Given the description of an element on the screen output the (x, y) to click on. 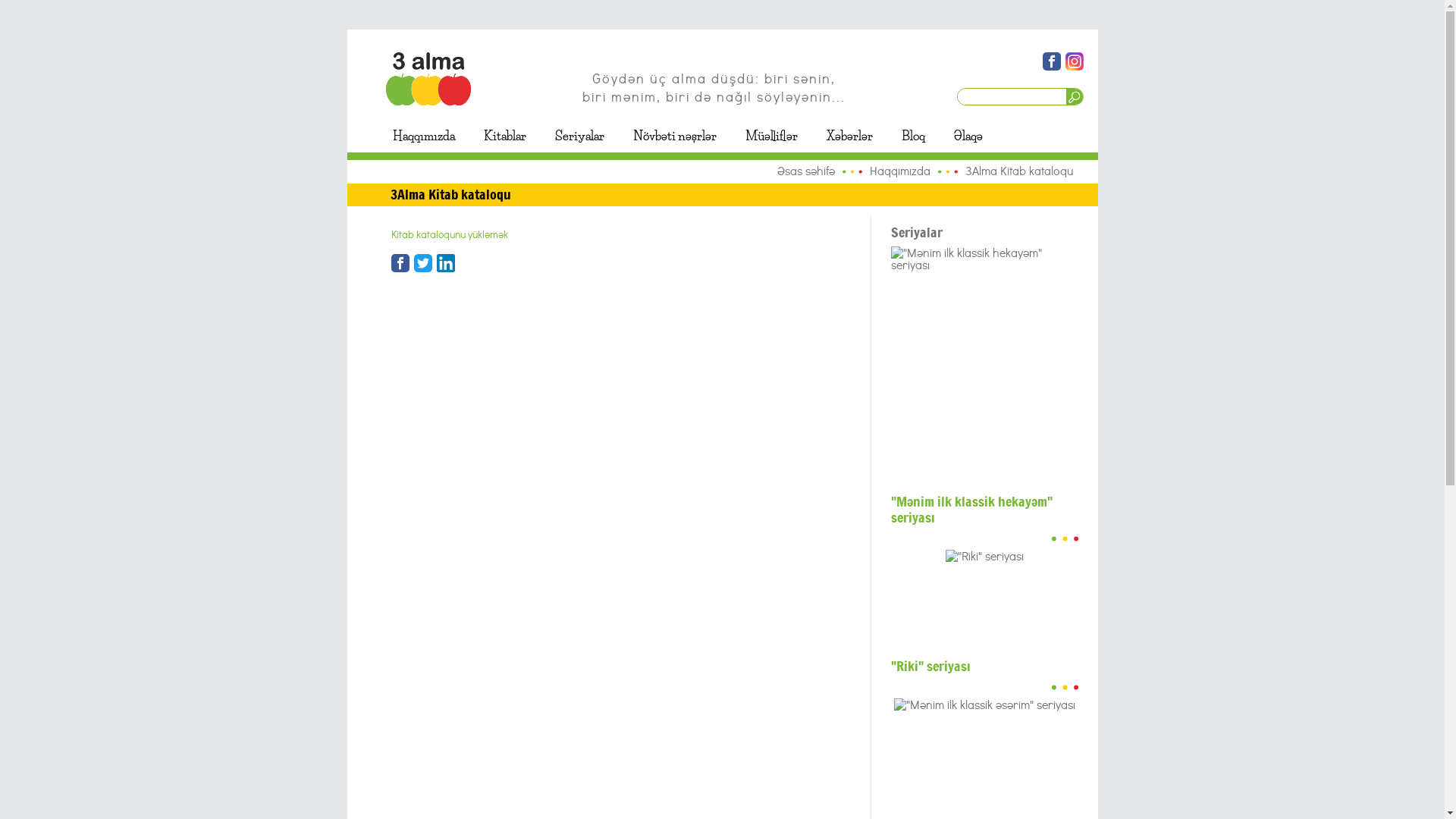
Kitablar Element type: text (504, 135)
Bloq Element type: text (912, 135)
3Alma Kitab kataloqu Element type: text (1018, 170)
Seriyalar Element type: text (578, 135)
